Given the description of an element on the screen output the (x, y) to click on. 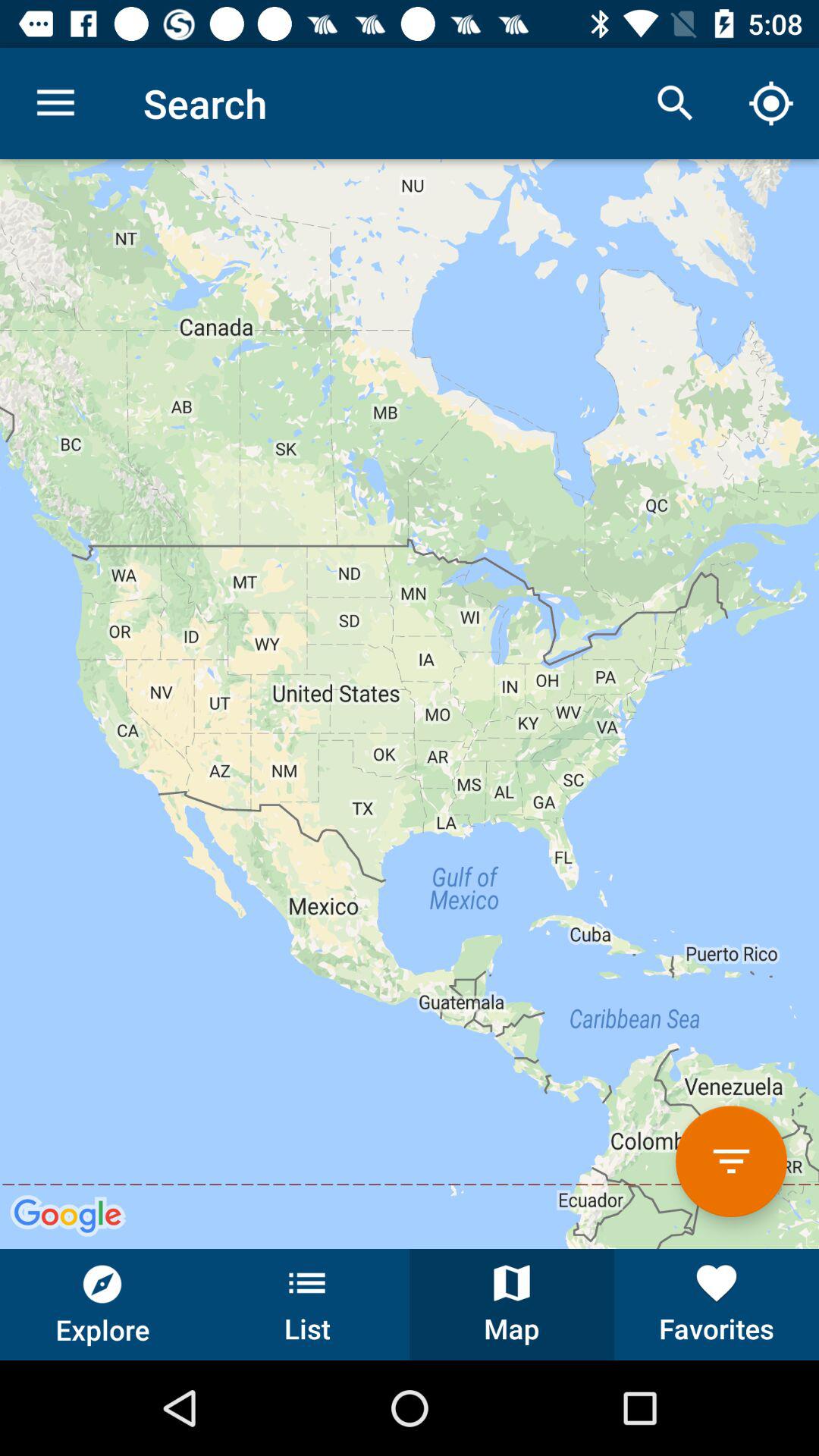
select explore (102, 1304)
